Given the description of an element on the screen output the (x, y) to click on. 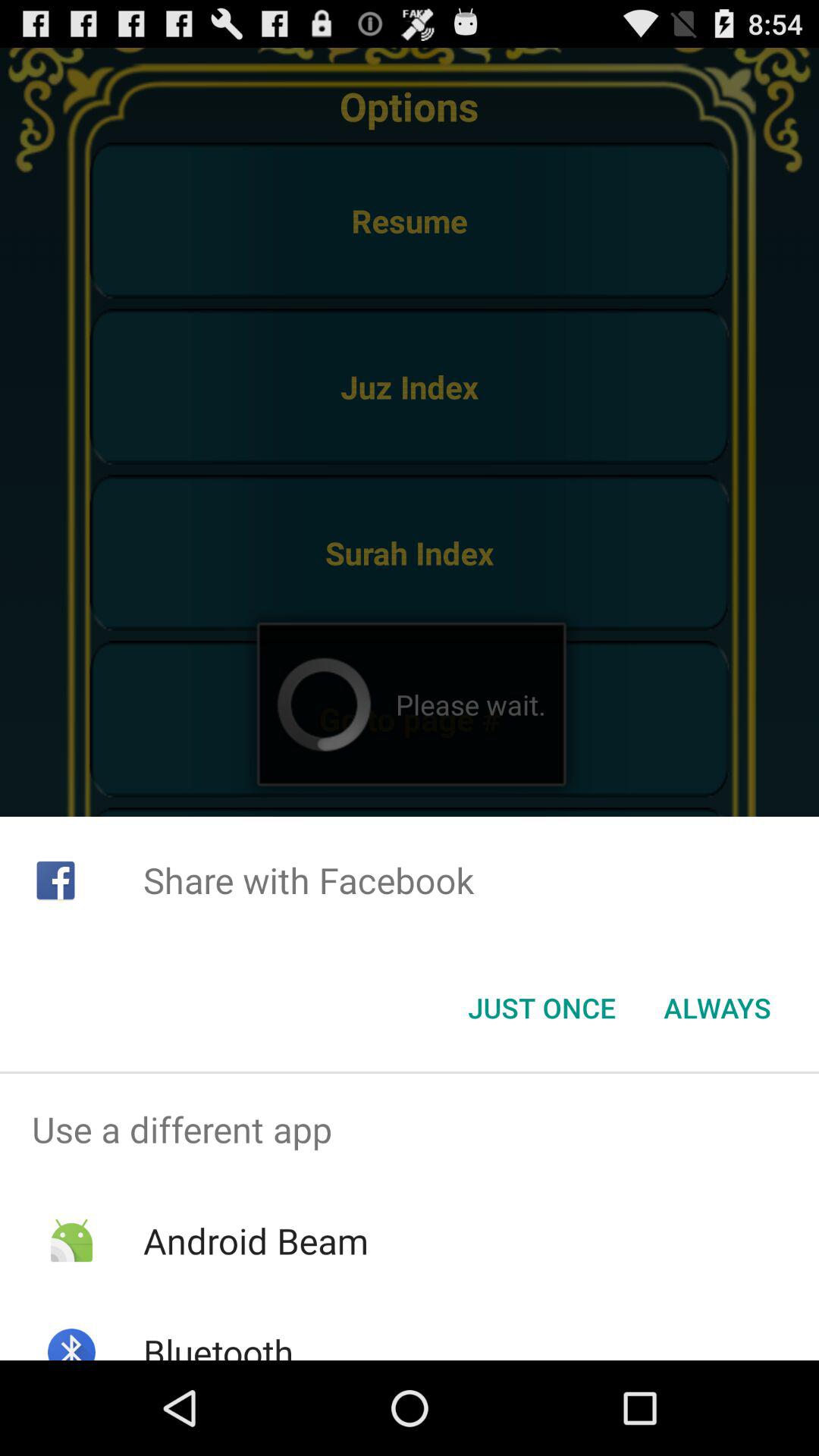
choose always (717, 1007)
